Given the description of an element on the screen output the (x, y) to click on. 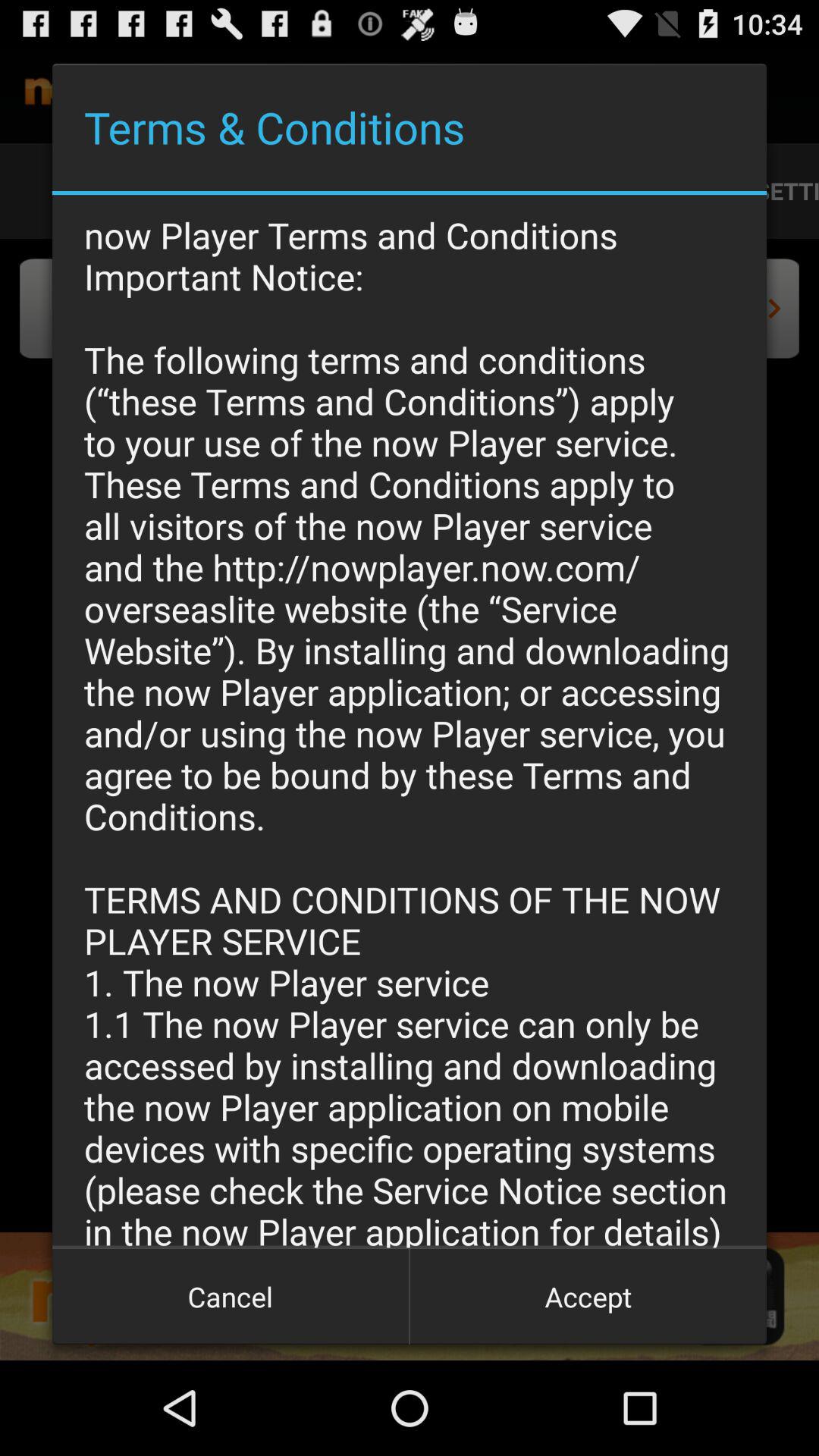
launch the icon to the right of the cancel button (588, 1296)
